Given the description of an element on the screen output the (x, y) to click on. 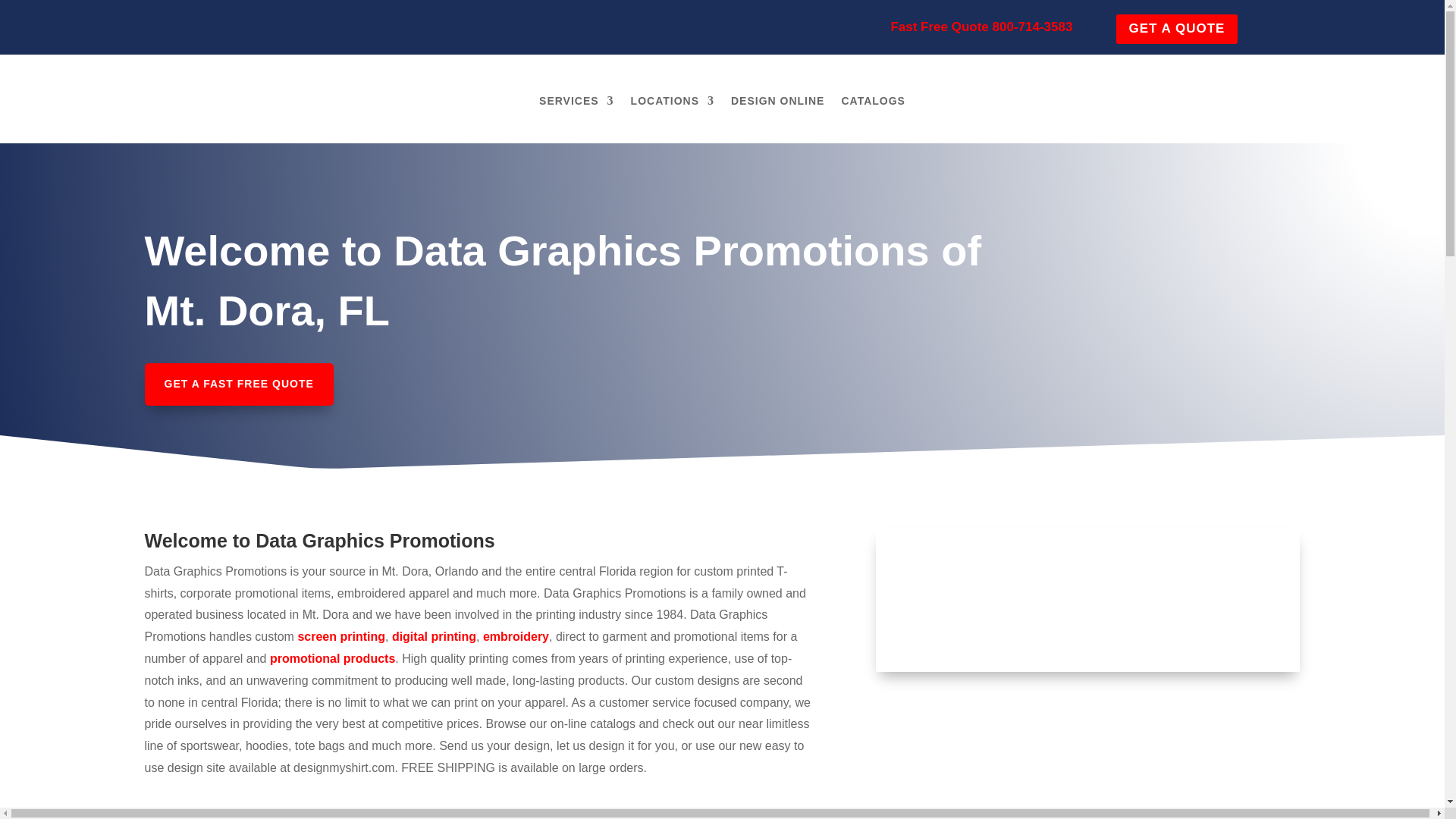
Embroidery (515, 635)
Website-Sidebar-Form (1087, 585)
Digital Printing (433, 635)
SERVICES (576, 100)
GET A QUOTE (1177, 29)
Promotional Products (331, 658)
Screen Printing (341, 635)
DESIGN ONLINE (777, 100)
800-714-3583 (1032, 26)
LOCATIONS (672, 100)
